Given the description of an element on the screen output the (x, y) to click on. 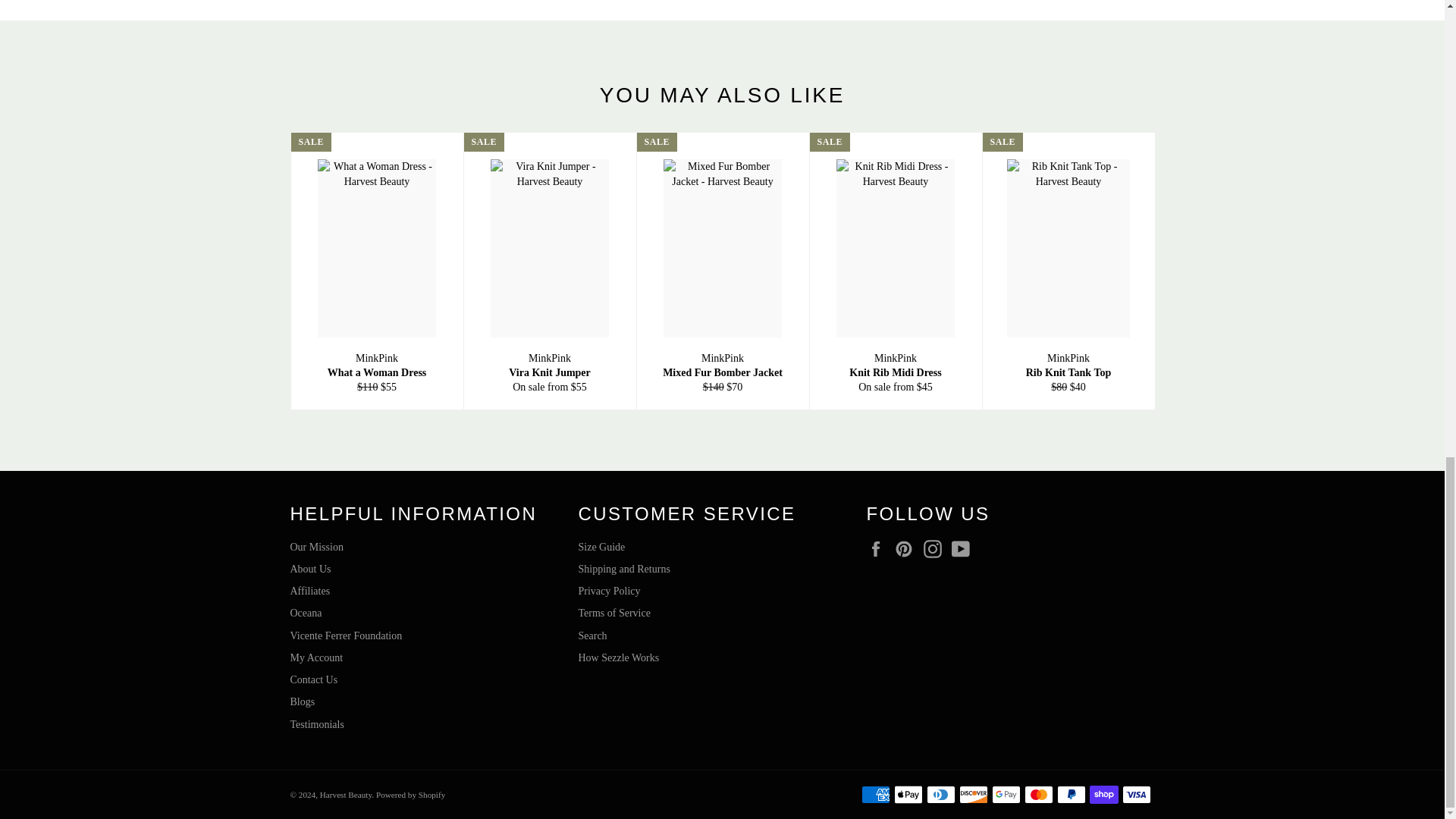
Harvest Beauty on Pinterest (907, 548)
Harvest Beauty on Instagram (936, 548)
Harvest Beauty on YouTube (964, 548)
Harvest Beauty on Facebook (878, 548)
